Given the description of an element on the screen output the (x, y) to click on. 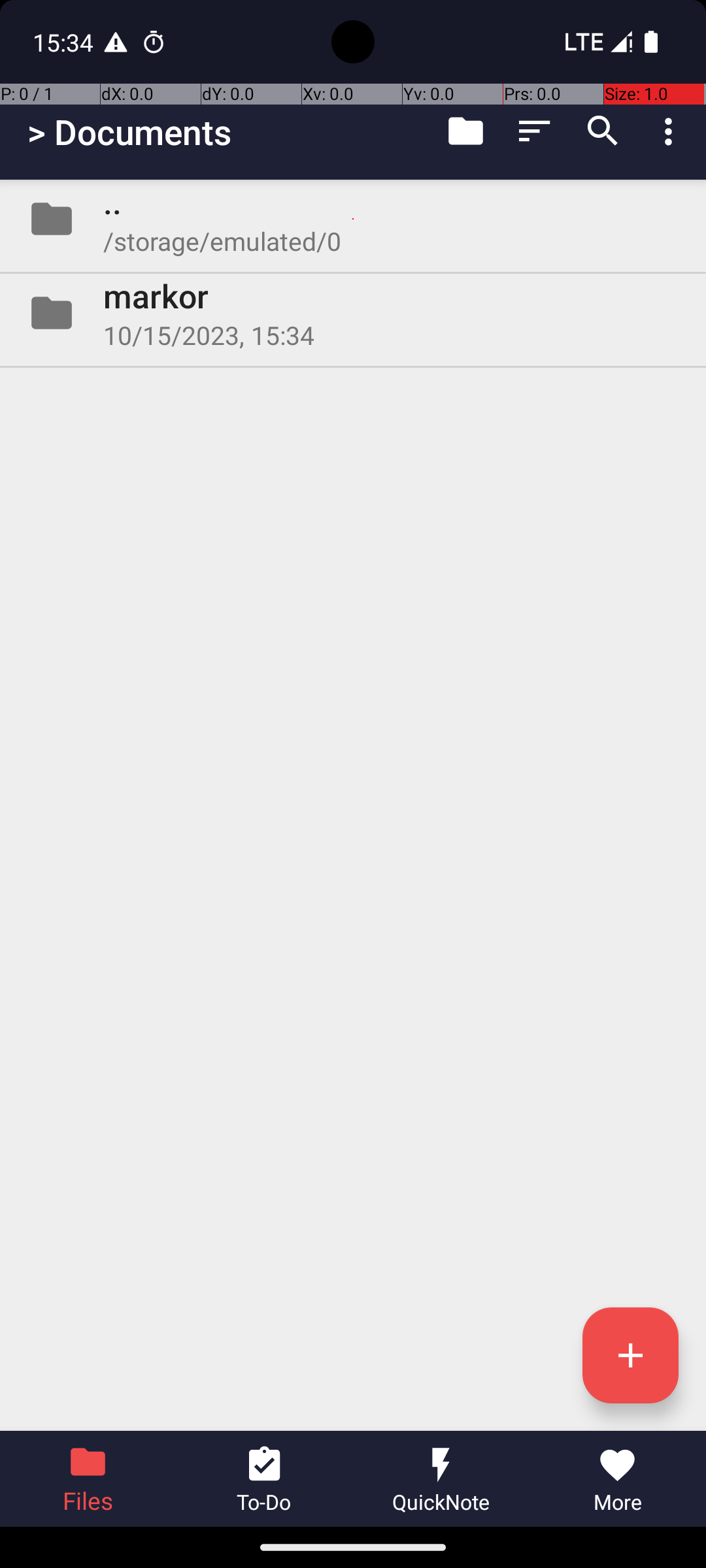
> Documents Element type: android.widget.TextView (129, 131)
Folder .. /storage/emulated/0/Documents Element type: android.widget.LinearLayout (353, 218)
Folder markor  Element type: android.widget.LinearLayout (353, 312)
